Given the description of an element on the screen output the (x, y) to click on. 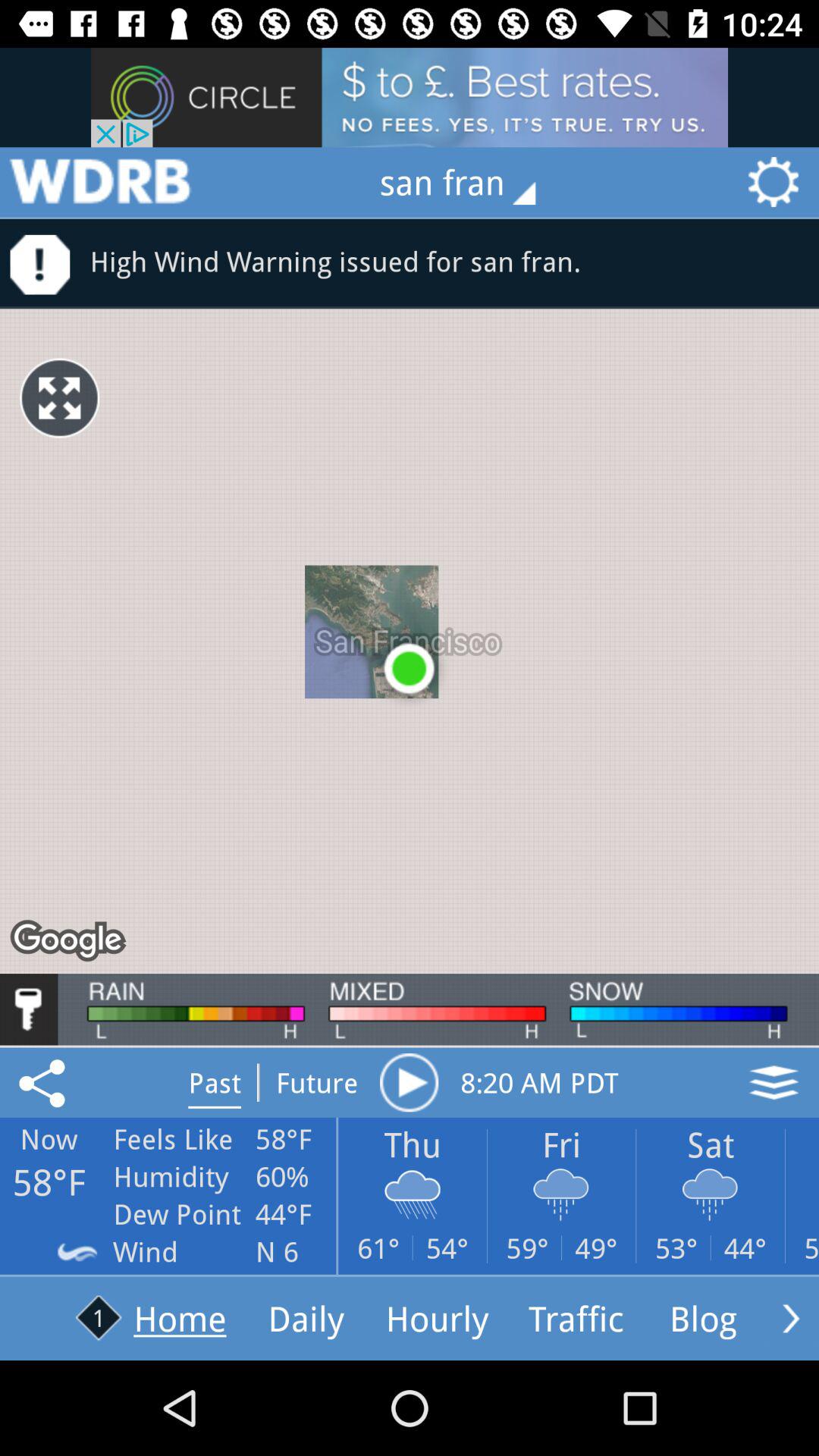
advertisement (409, 97)
